Given the description of an element on the screen output the (x, y) to click on. 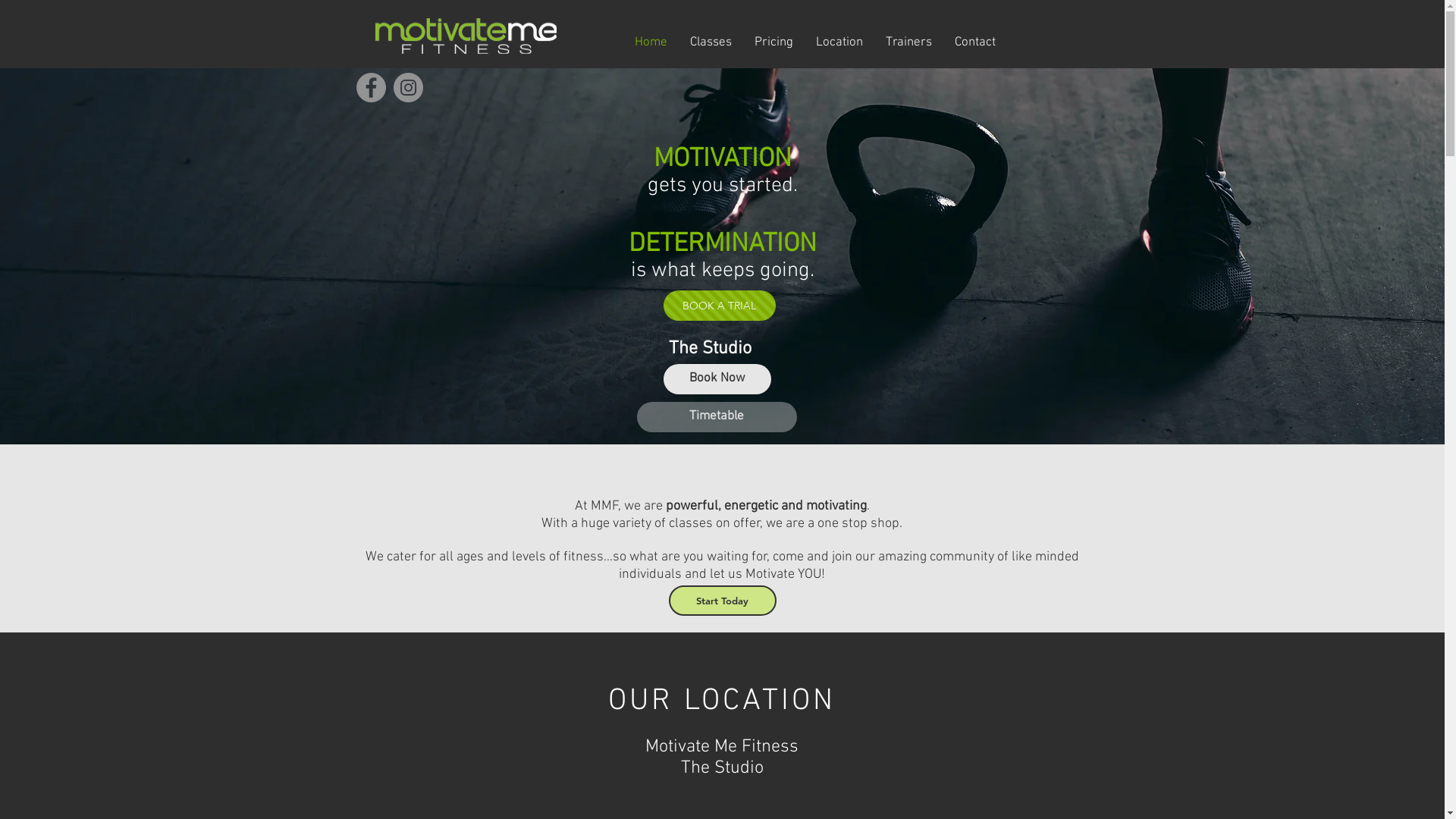
Book Now Element type: text (716, 379)
Contact Element type: text (975, 42)
Location Element type: text (838, 42)
BOOK A TRIAL Element type: text (718, 305)
Trainers Element type: text (907, 42)
Start Today Element type: text (722, 600)
Home Element type: text (650, 42)
Classes Element type: text (709, 42)
Timetable Element type: text (717, 416)
Pricing Element type: text (773, 42)
